Given the description of an element on the screen output the (x, y) to click on. 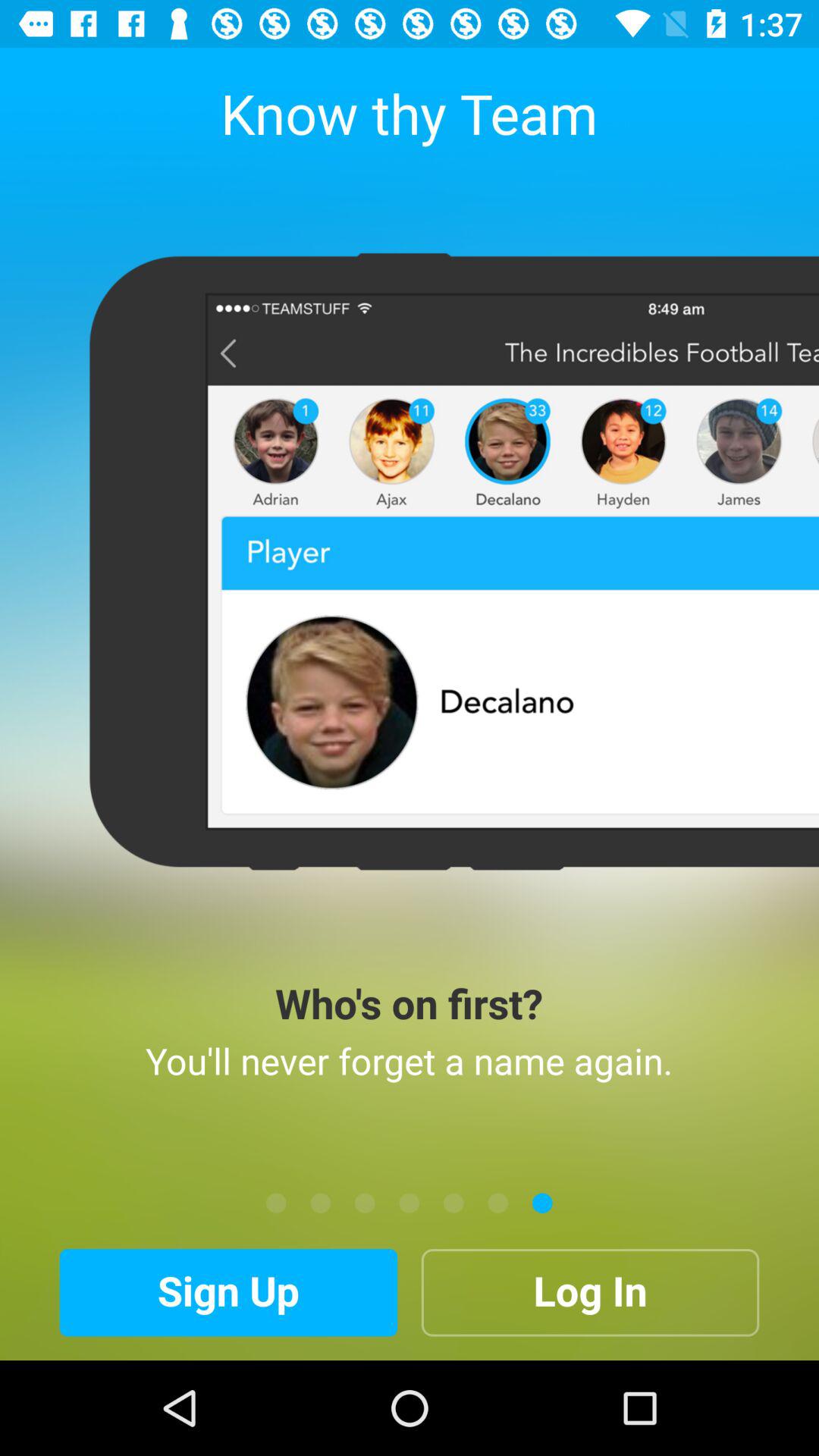
page option (409, 1203)
